Given the description of an element on the screen output the (x, y) to click on. 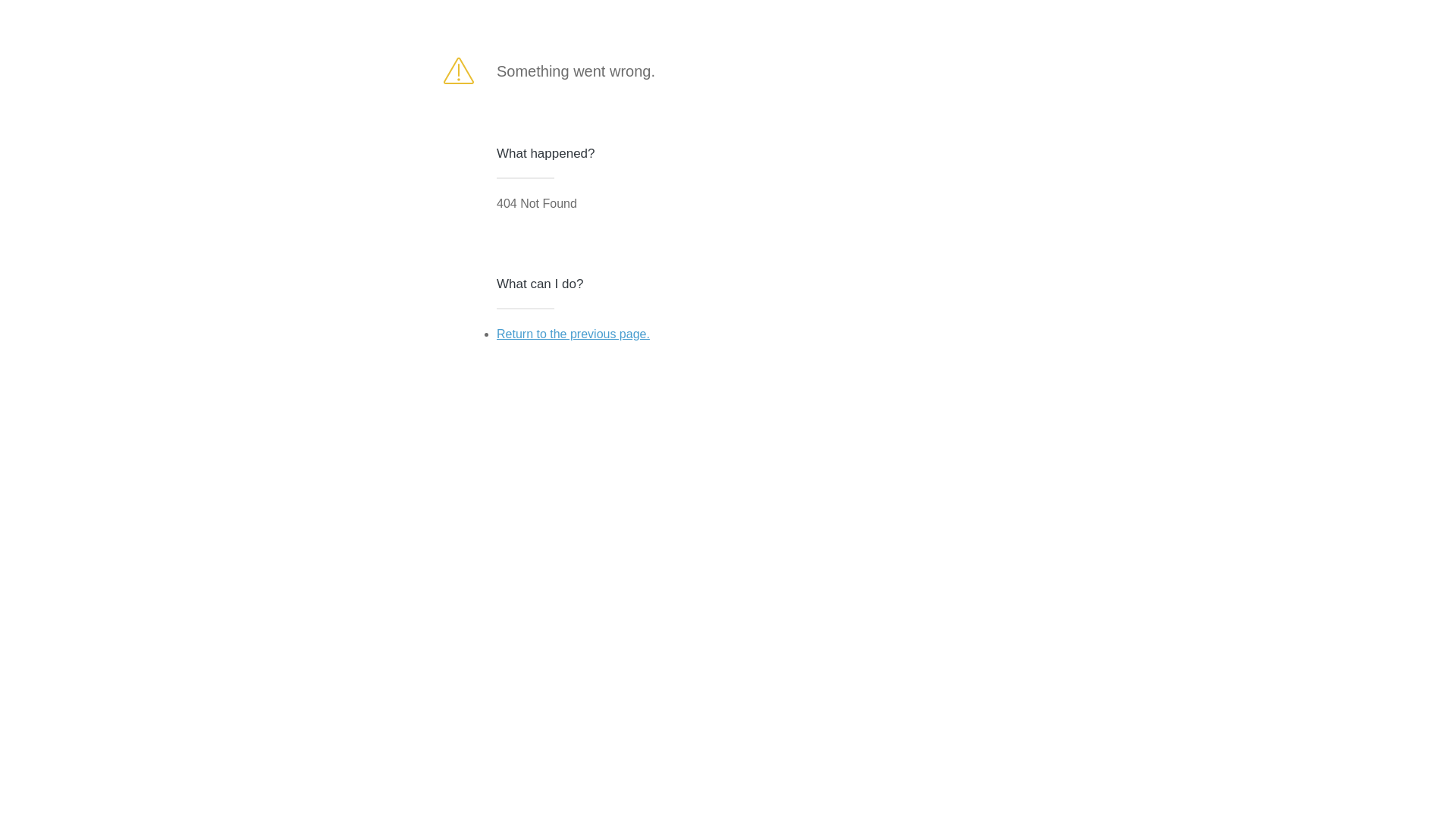
Return to the previous page. Element type: text (572, 333)
